Given the description of an element on the screen output the (x, y) to click on. 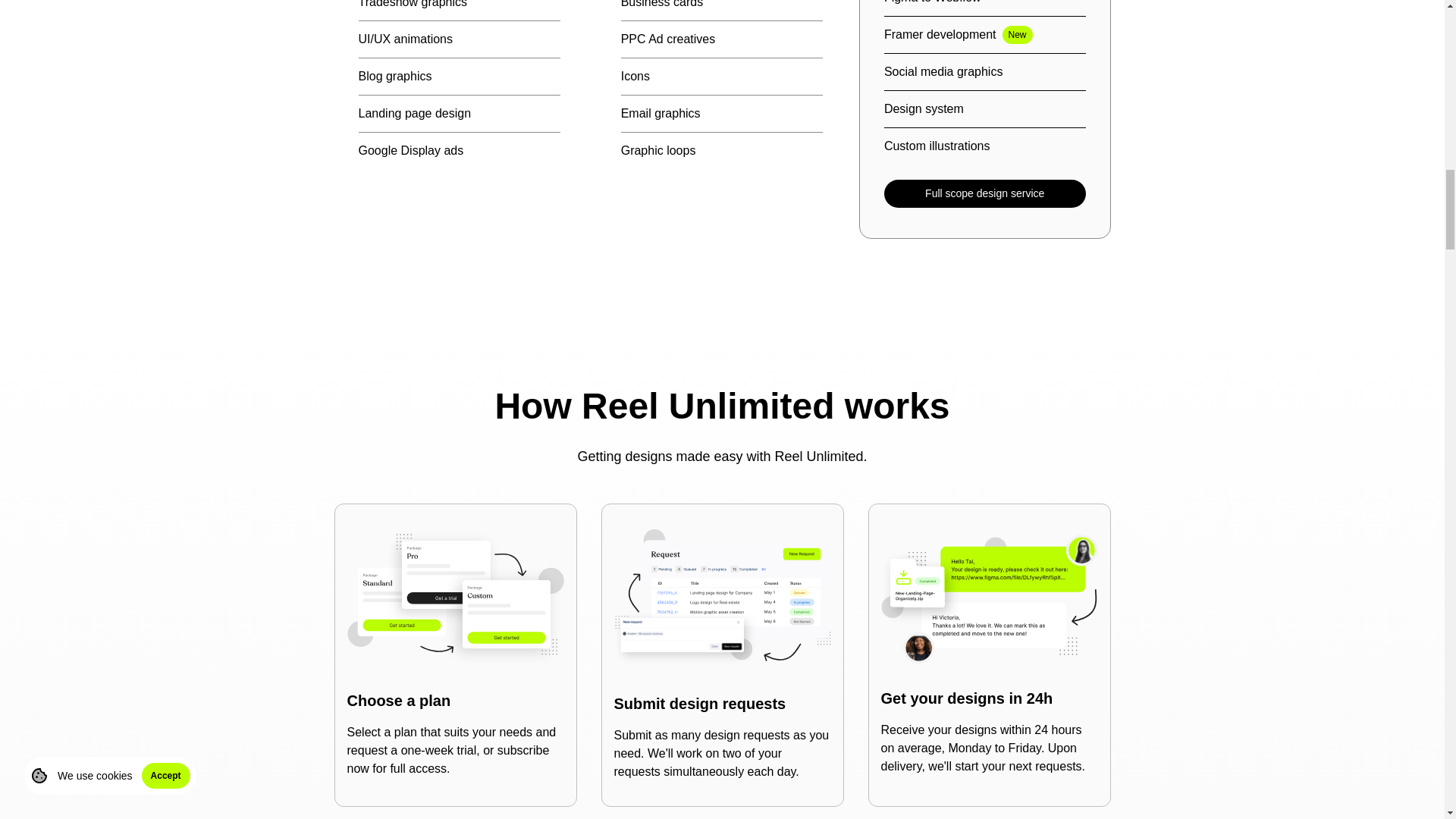
Full scope design service (984, 193)
